Given the description of an element on the screen output the (x, y) to click on. 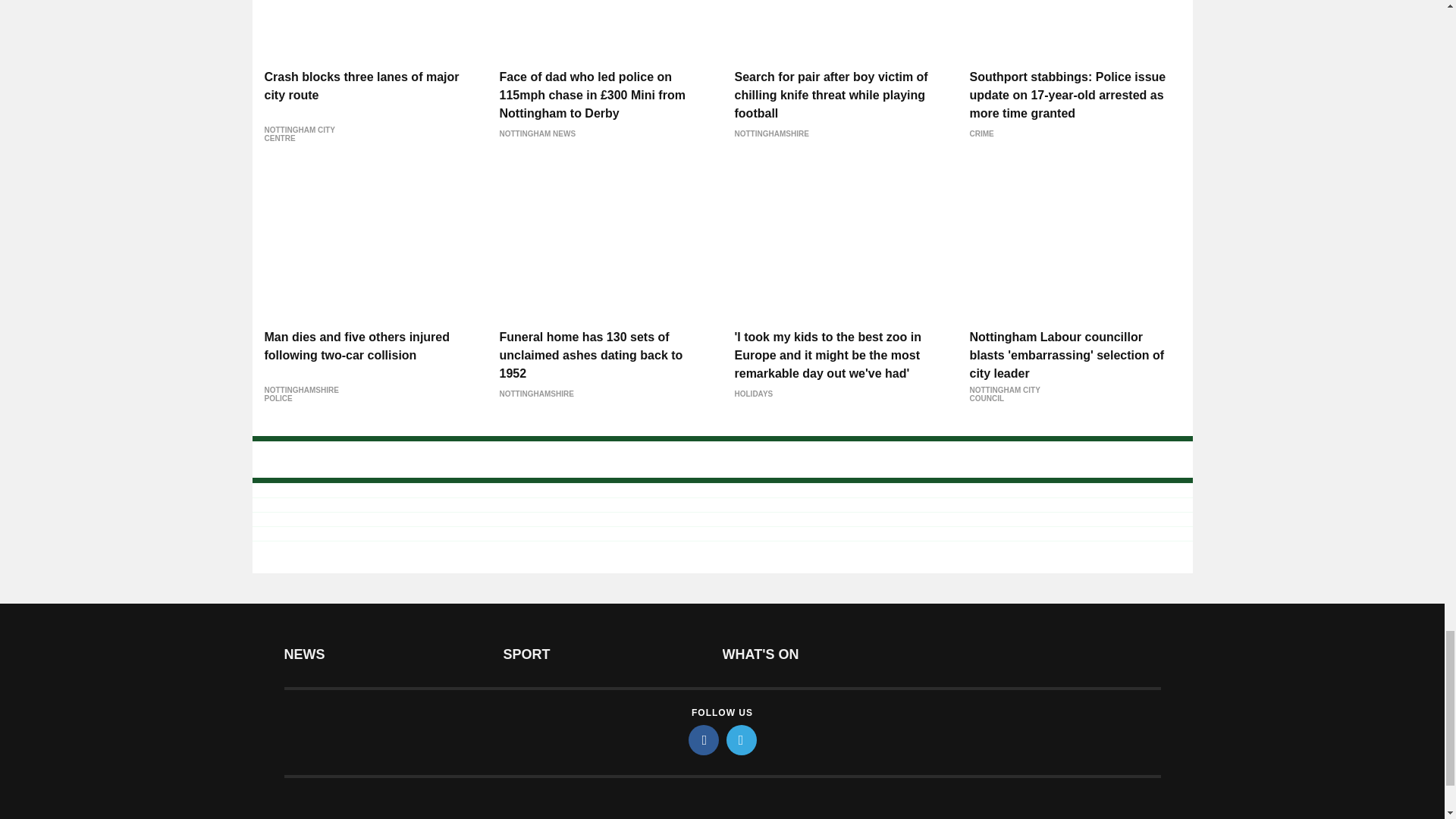
twitter (741, 739)
facebook (703, 739)
